Given the description of an element on the screen output the (x, y) to click on. 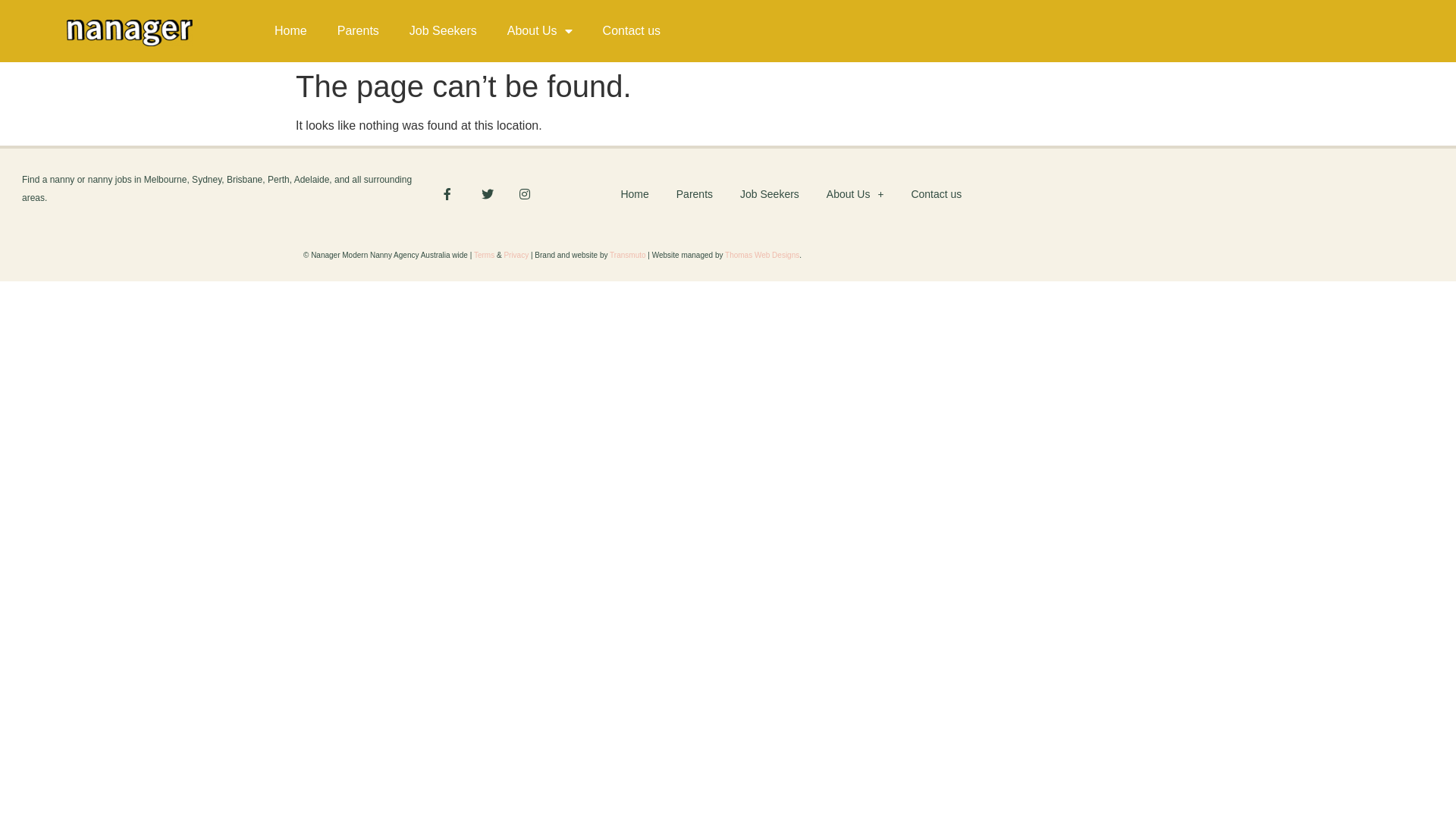
Privacy Element type: text (515, 255)
Job Seekers Element type: text (769, 193)
Parents Element type: text (694, 193)
Terms Element type: text (484, 255)
Thomas Web Designs Element type: text (761, 255)
Contact us Element type: text (936, 193)
Home Element type: text (633, 193)
Job Seekers Element type: text (443, 30)
Parents Element type: text (358, 30)
cropped-White-and-Black-5@3x.png Element type: hover (129, 32)
Home Element type: text (290, 30)
Transmuto Element type: text (627, 255)
About Us Element type: text (539, 30)
About Us Element type: text (854, 193)
Contact us Element type: text (631, 30)
